Given the description of an element on the screen output the (x, y) to click on. 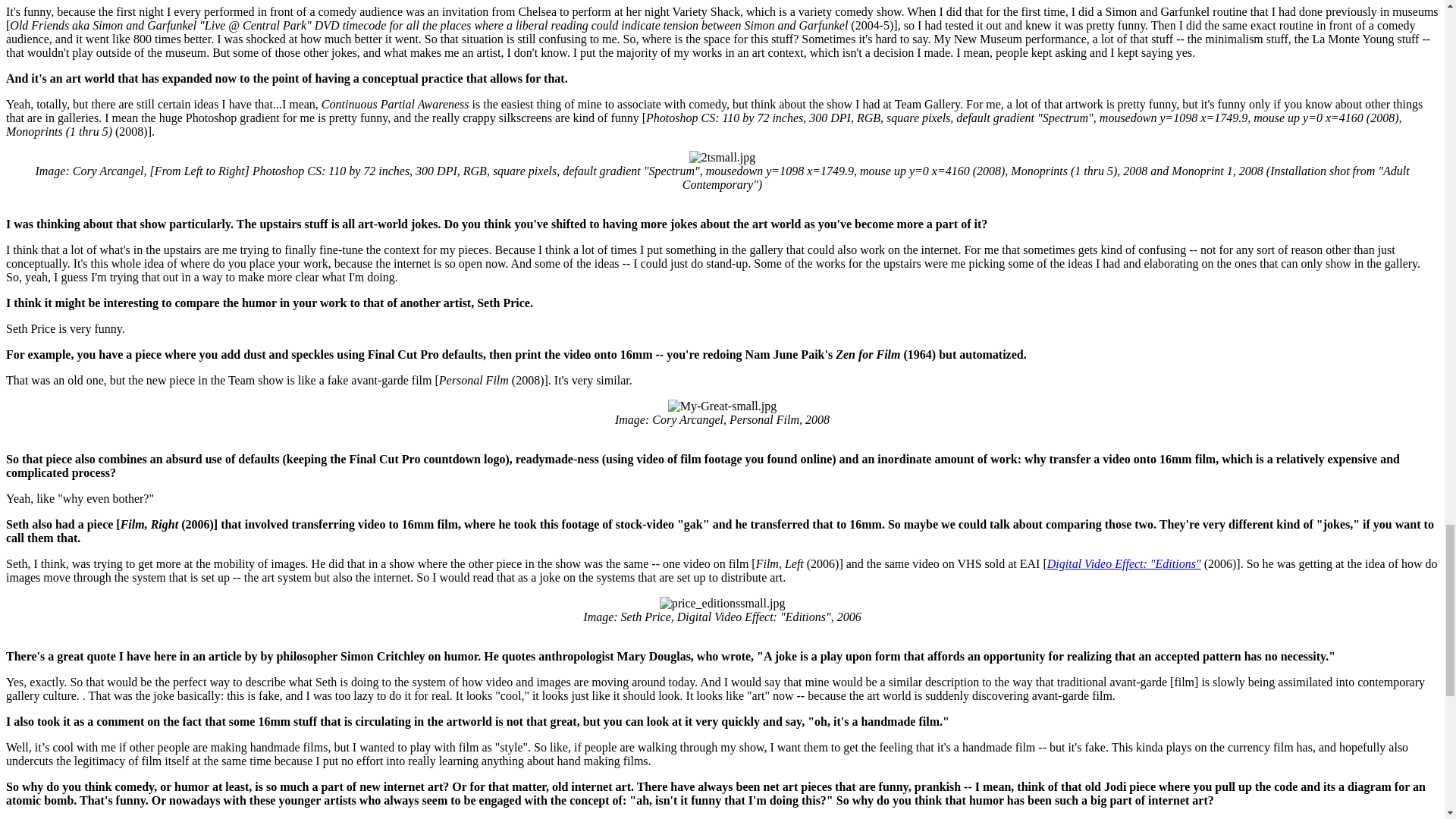
Digital Video Effect: "Editions" (1123, 563)
